Given the description of an element on the screen output the (x, y) to click on. 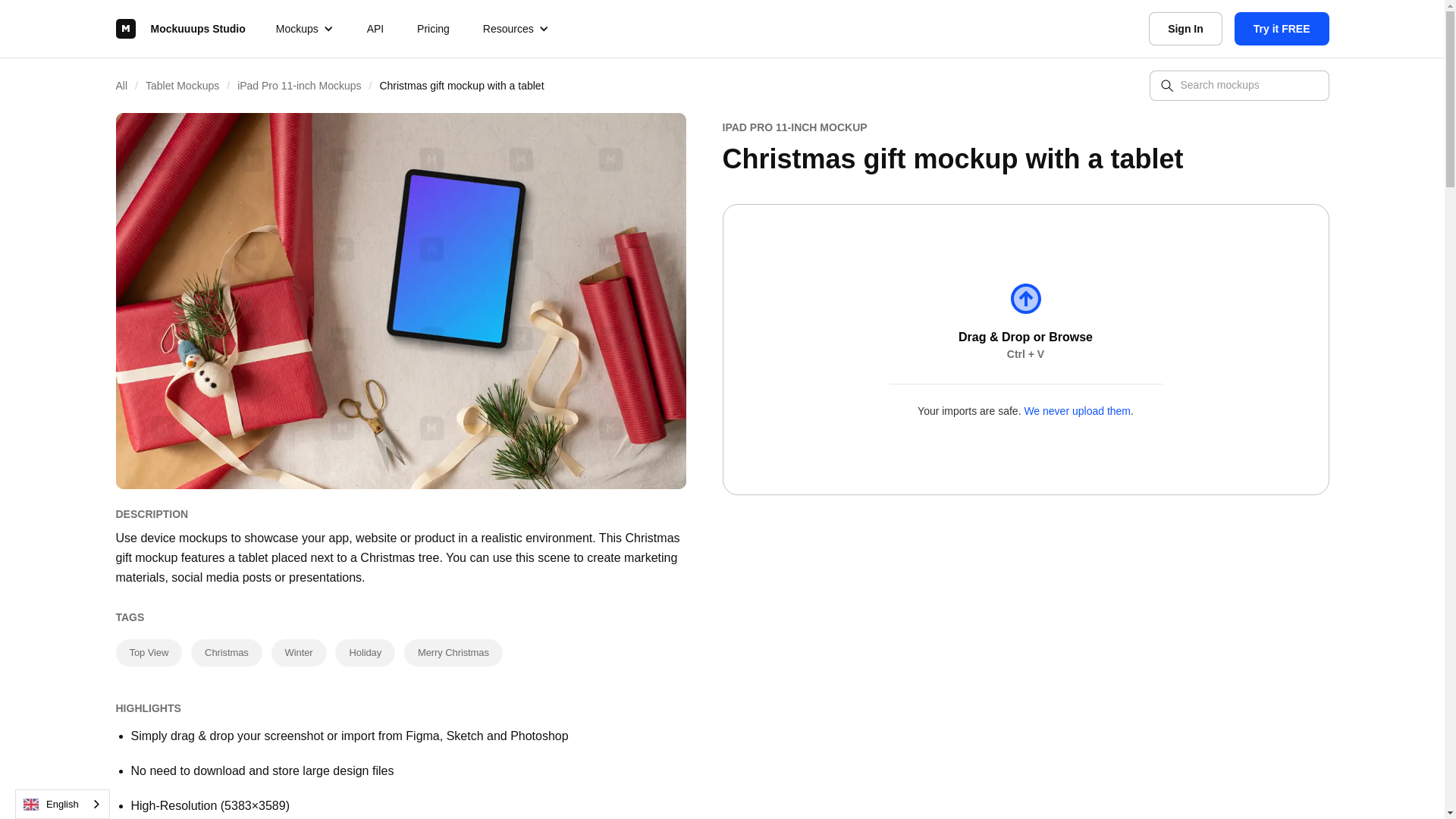
Top View (148, 652)
Sign In (1185, 28)
Holiday (364, 652)
Pricing (432, 28)
We never upload them (1077, 410)
Try it FREE (1281, 28)
Mockuuups Studio (179, 28)
Browse All Mockups (129, 85)
Christmas (226, 652)
Merry Christmas (453, 652)
API (375, 28)
Winter (298, 652)
